Given the description of an element on the screen output the (x, y) to click on. 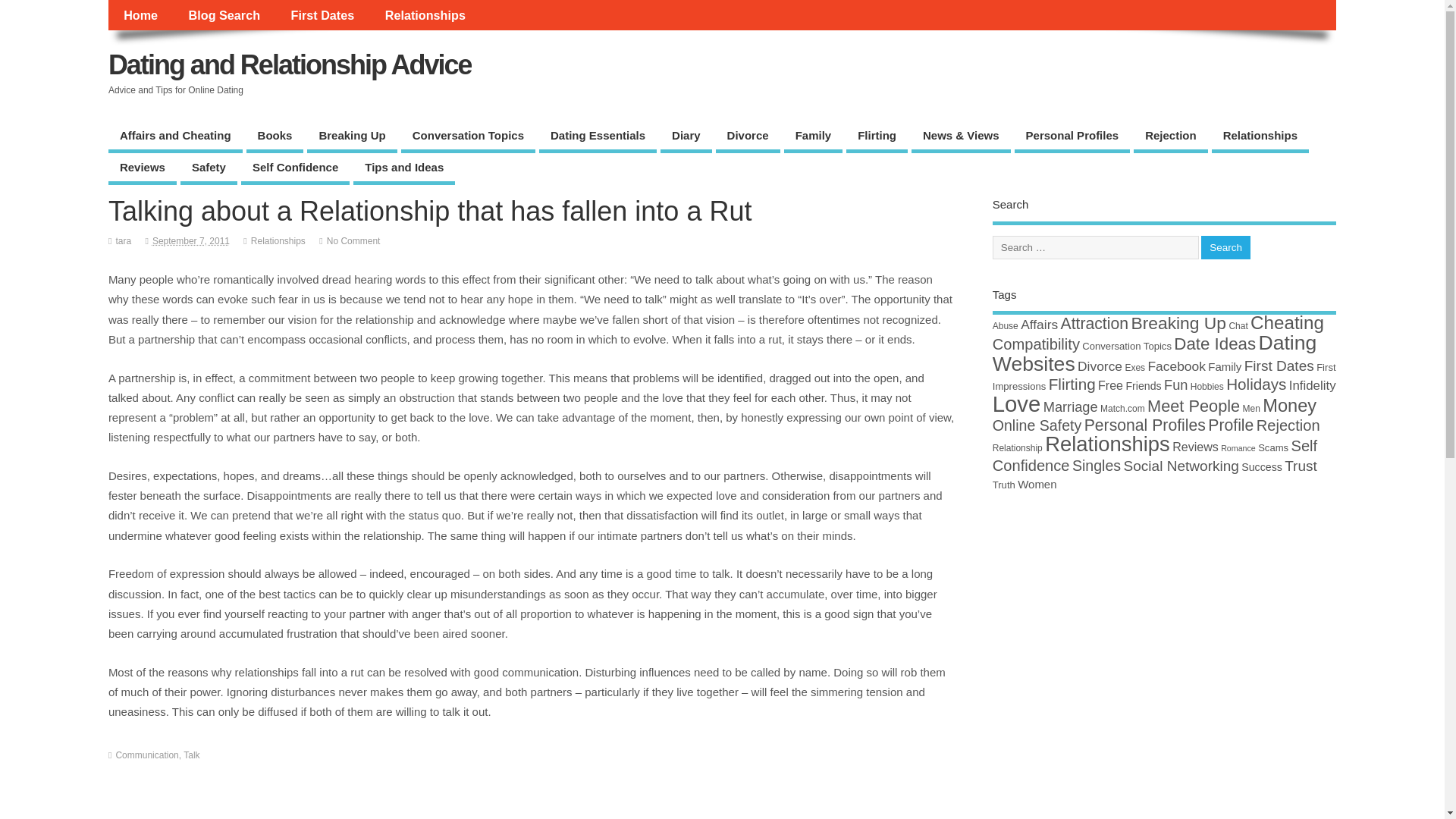
Search (1225, 247)
Cheating (1286, 322)
Search (1225, 247)
Safety (208, 169)
Chat (1237, 326)
Home (140, 15)
Attraction (1093, 323)
Abuse (1004, 326)
Tips and Ideas (403, 169)
Flirting (876, 136)
